Given the description of an element on the screen output the (x, y) to click on. 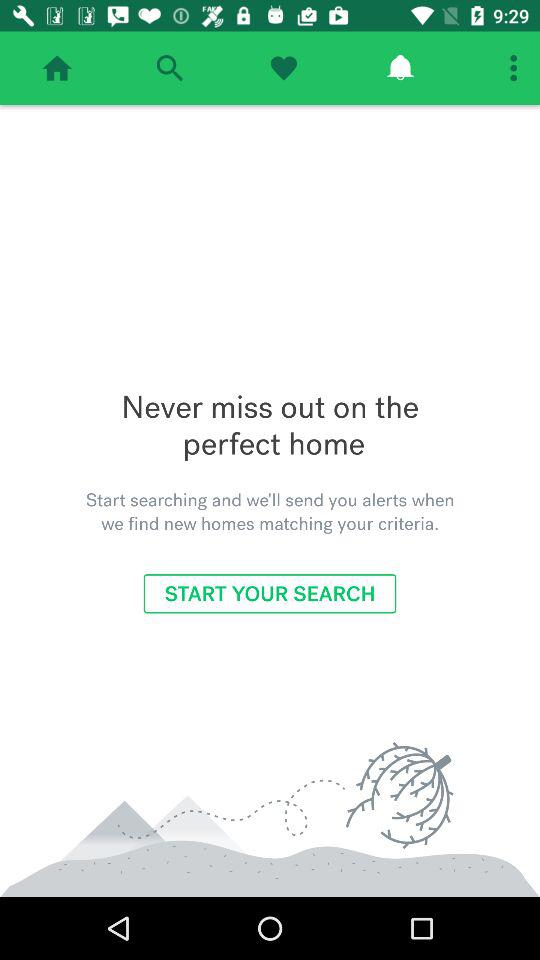
search the application for keywords (169, 68)
